Given the description of an element on the screen output the (x, y) to click on. 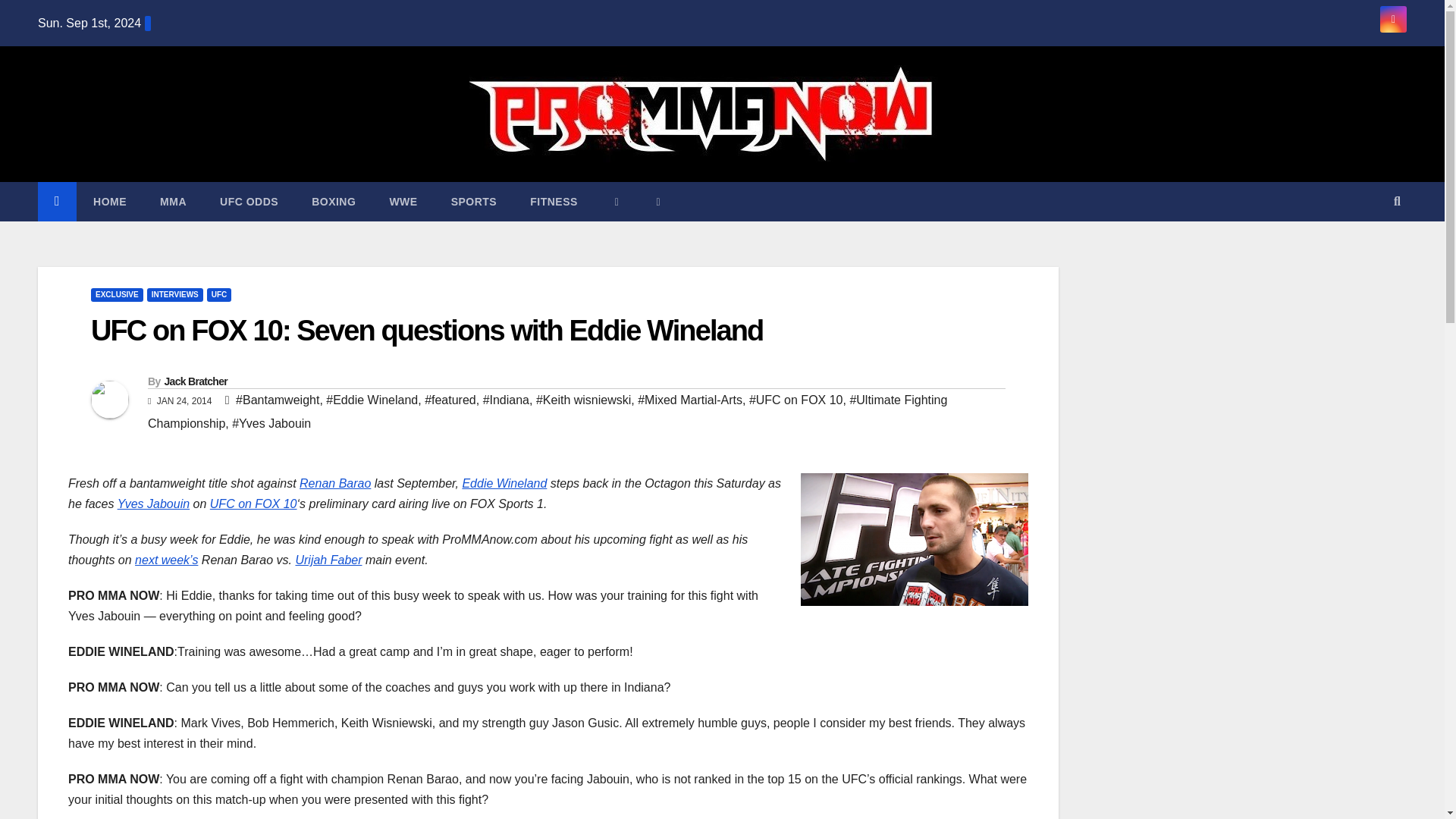
UFC on FOX 10 (253, 503)
MMA (172, 201)
Fitness (553, 201)
Renan Barao (335, 482)
SPORTS (473, 201)
EXCLUSIVE (116, 295)
Home (109, 201)
INTERVIEWS (175, 295)
Sports (473, 201)
Yves Jabouin (153, 503)
